Given the description of an element on the screen output the (x, y) to click on. 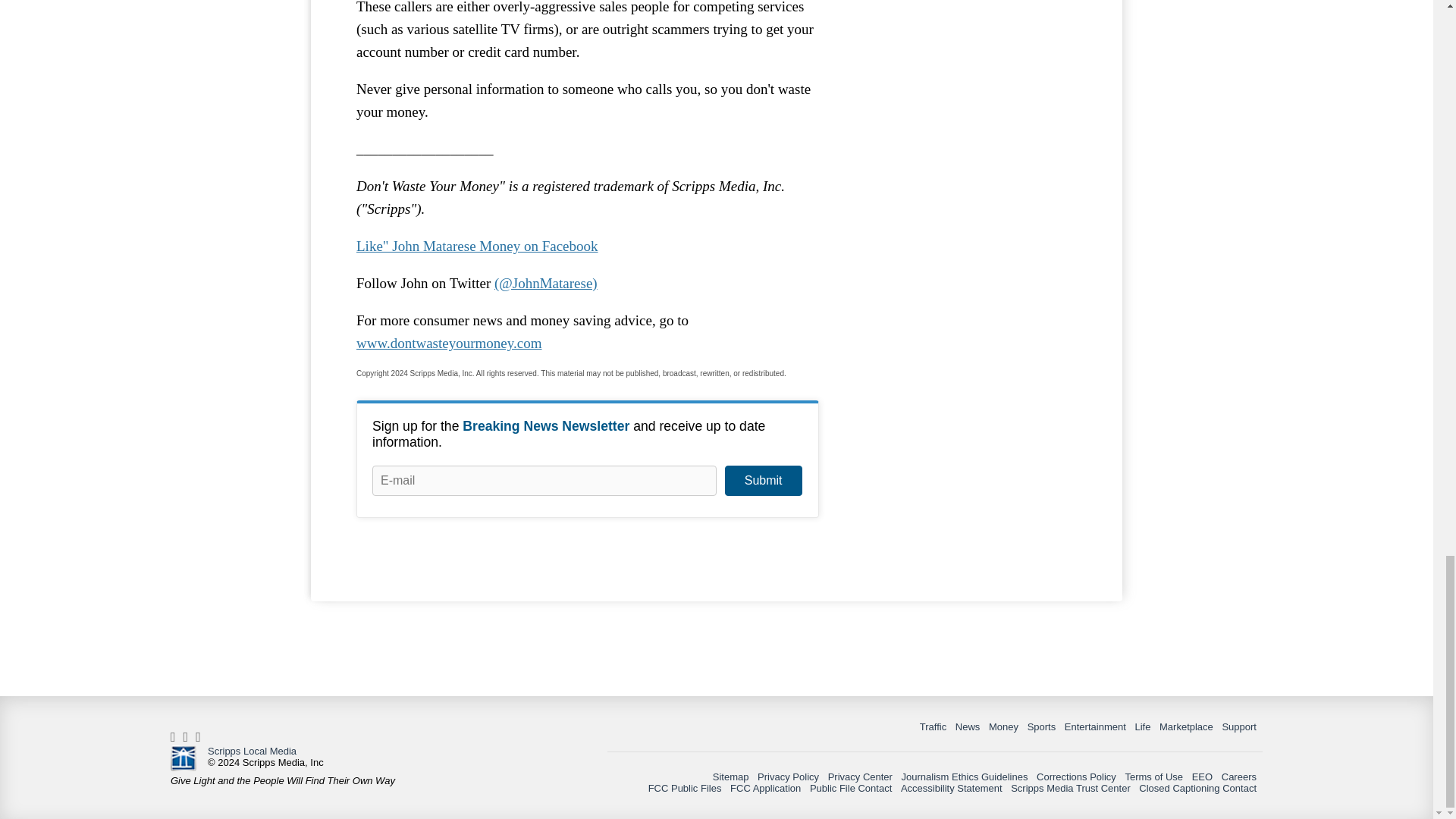
Submit (763, 481)
